Given the description of an element on the screen output the (x, y) to click on. 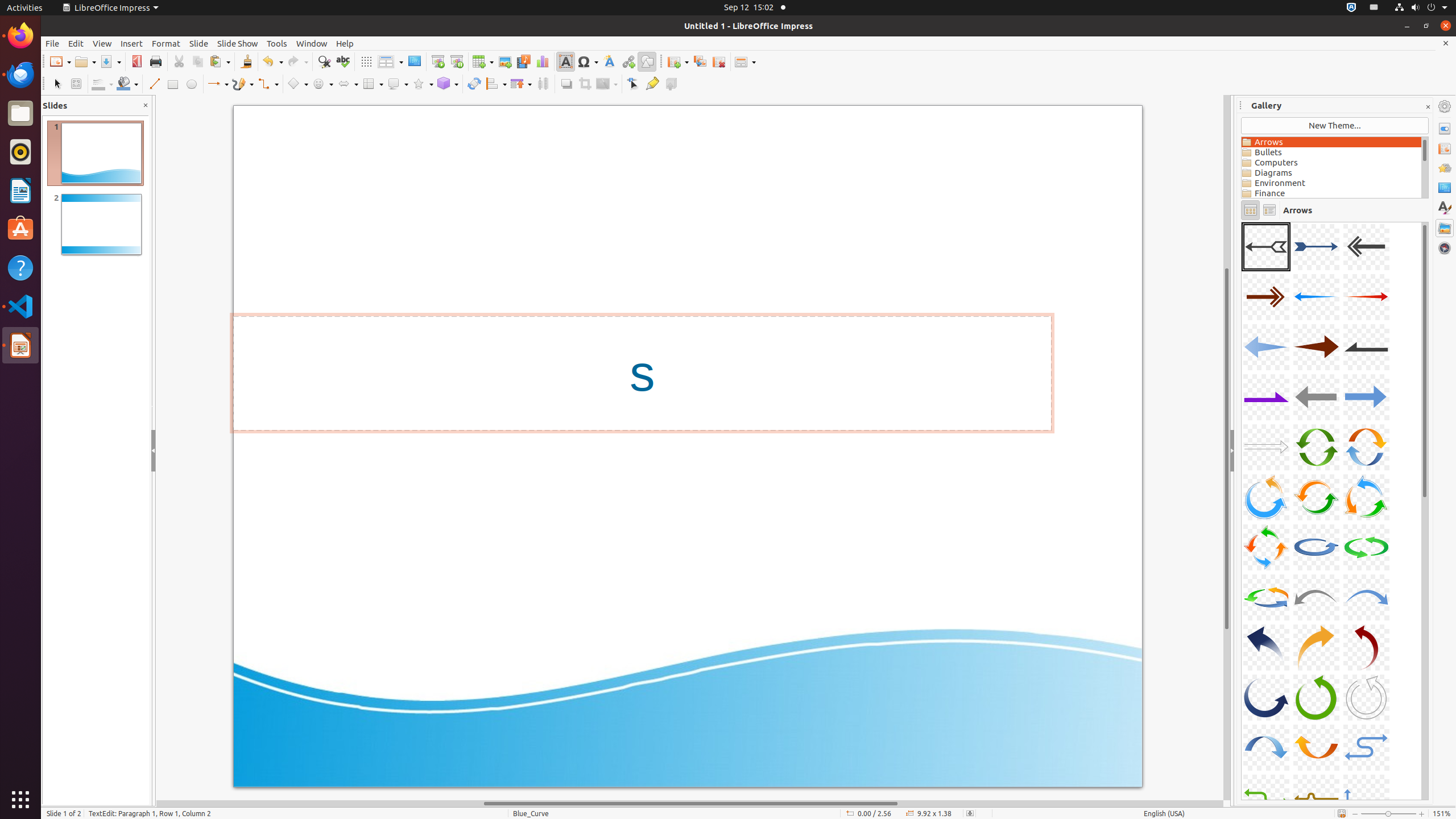
Ellipse Element type: push-button (191, 83)
